Given the description of an element on the screen output the (x, y) to click on. 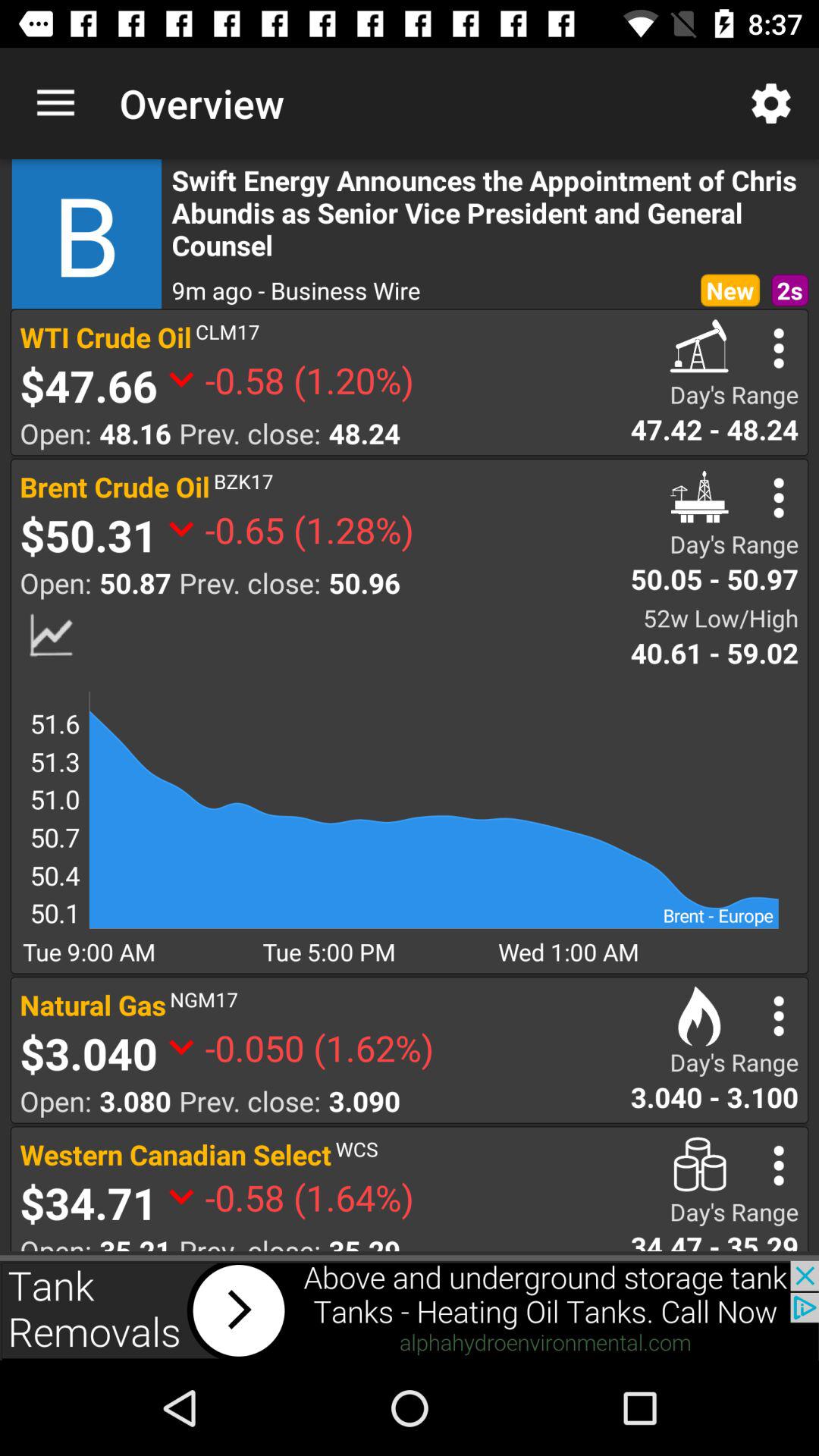
menu (778, 1015)
